Given the description of an element on the screen output the (x, y) to click on. 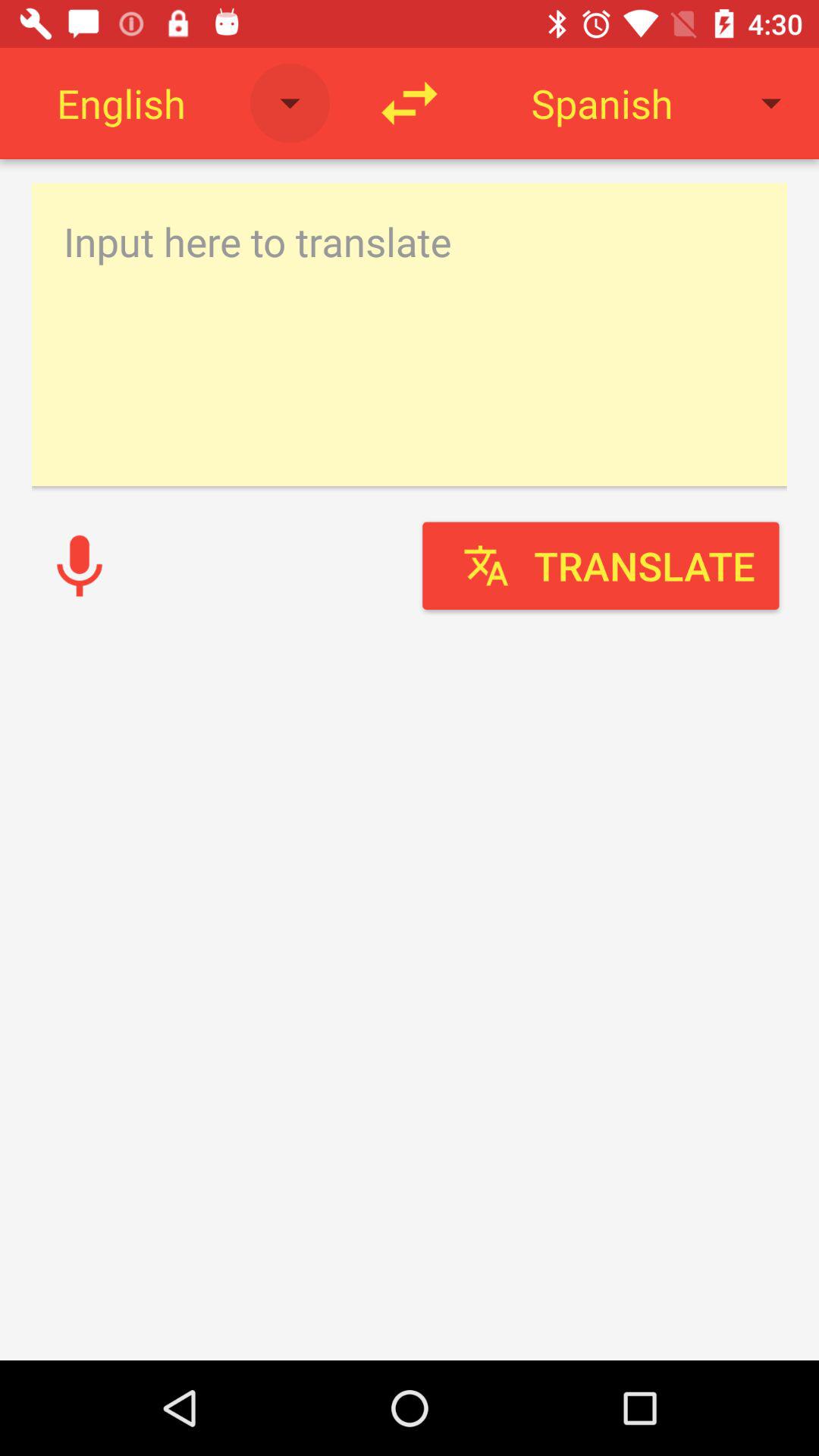
voice chatting (79, 565)
